Given the description of an element on the screen output the (x, y) to click on. 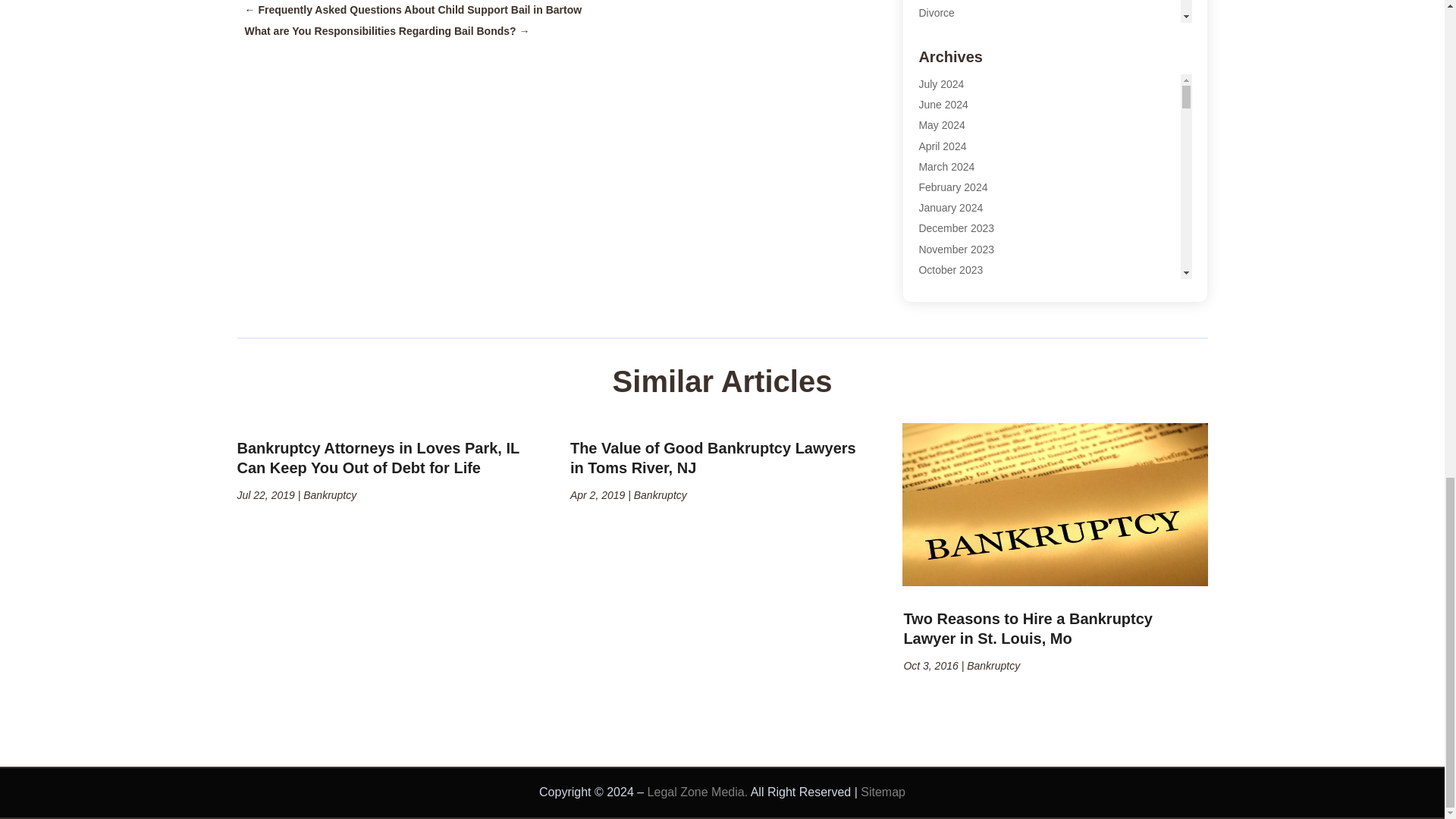
Law Attorney (948, 137)
Family Lawyer (952, 74)
Labor Arbitrage (954, 95)
Law Firm (940, 157)
Estate Planning Lawyers (976, 33)
Family Law Attorney (965, 54)
Law (927, 115)
Divorce (935, 12)
